Given the description of an element on the screen output the (x, y) to click on. 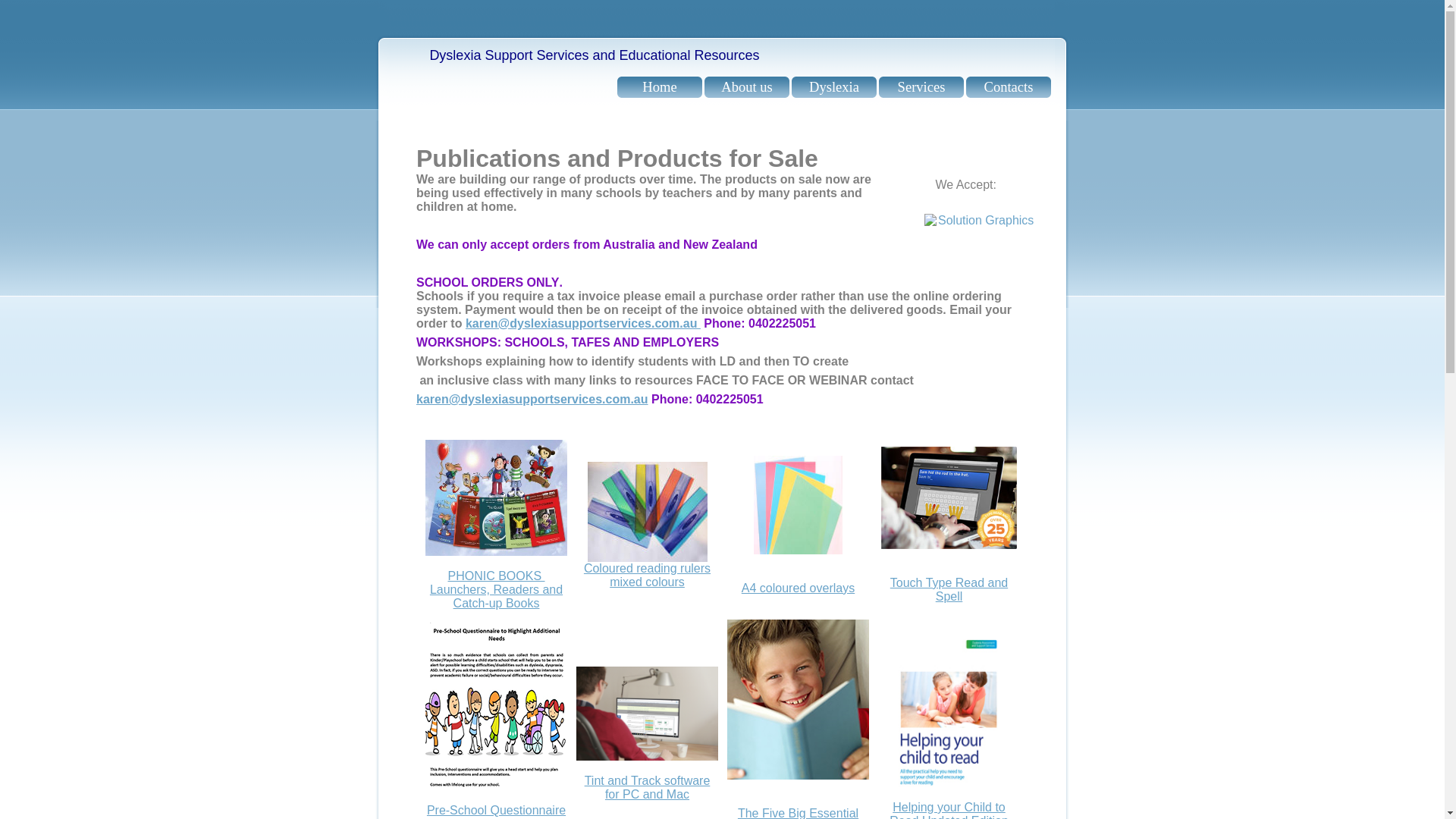
A4 coloured overlays Element type: text (797, 586)
PHONIC BOOKS  Launchers, Readers and Catch-up Books Element type: text (495, 589)
Tint and Track software for PC and Mac Element type: text (647, 786)
About us Element type: text (746, 86)
Contacts Element type: text (1008, 86)
karen@dyslexiasupportservices.com.au Element type: text (532, 398)
Home Element type: text (659, 86)
Dyslexia Element type: text (833, 86)
Services Element type: text (920, 86)
Coloured reading rulers
mixed colours Element type: text (646, 574)
karen@dyslexiasupportservices.com.au Element type: text (582, 322)
Touch Type Read and Spell Element type: text (948, 589)
